Given the description of an element on the screen output the (x, y) to click on. 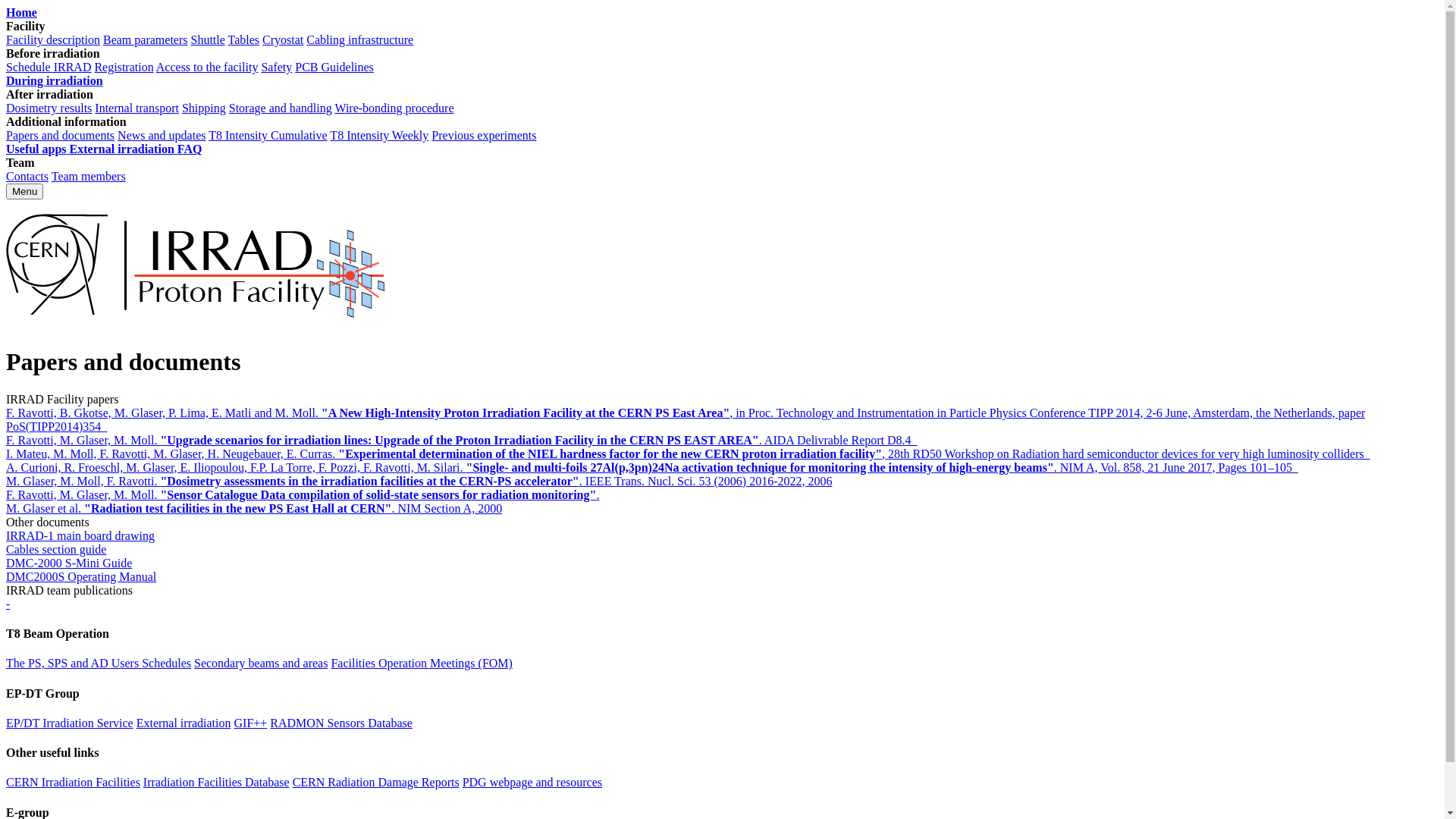
RADMON Sensors Database Element type: text (340, 722)
T8 Intensity Cumulative Element type: text (267, 134)
Registration Element type: text (123, 66)
The PS, SPS and AD Users Schedules Element type: text (98, 662)
Team members Element type: text (88, 175)
DMC-2000 S-Mini Guide Element type: text (68, 562)
DMC2000S Operating Manual Element type: text (81, 576)
Facilities Operation Meetings (FOM) Element type: text (421, 662)
Home Element type: text (21, 12)
News and updates Element type: text (161, 134)
FAQ Element type: text (189, 148)
Cables section guide Element type: text (56, 548)
T8 Intensity Weekly Element type: text (378, 134)
EP/DT Irradiation Service Element type: text (69, 722)
IRRAD-1 main board drawing Element type: text (80, 535)
CERN Irradiation Facilities Element type: text (73, 781)
Previous experiments Element type: text (483, 134)
Cryostat Element type: text (282, 39)
Safety Element type: text (275, 66)
External irradiation Element type: text (123, 148)
Contacts Element type: text (27, 175)
Shipping Element type: text (203, 107)
Wire-bonding procedure Element type: text (393, 107)
Cabling infrastructure Element type: text (359, 39)
Internal transport Element type: text (136, 107)
Dosimetry results Element type: text (48, 107)
PCB Guidelines Element type: text (333, 66)
- Element type: text (7, 603)
GIF++ Element type: text (249, 722)
Shuttle Element type: text (207, 39)
Irradiation Facilities Database Element type: text (216, 781)
Schedule IRRAD Element type: text (48, 66)
Tables Element type: text (244, 39)
Access to the facility Element type: text (207, 66)
PDG webpage and resources Element type: text (532, 781)
External irradiation Element type: text (183, 722)
CERN Radiation Damage Reports Element type: text (375, 781)
Menu Element type: text (24, 191)
Storage and handling Element type: text (280, 107)
Facility description Element type: text (53, 39)
Useful apps Element type: text (37, 148)
Secondary beams and areas Element type: text (260, 662)
During irradiation Element type: text (54, 80)
Papers and documents Element type: text (60, 134)
Beam parameters Element type: text (145, 39)
